Given the description of an element on the screen output the (x, y) to click on. 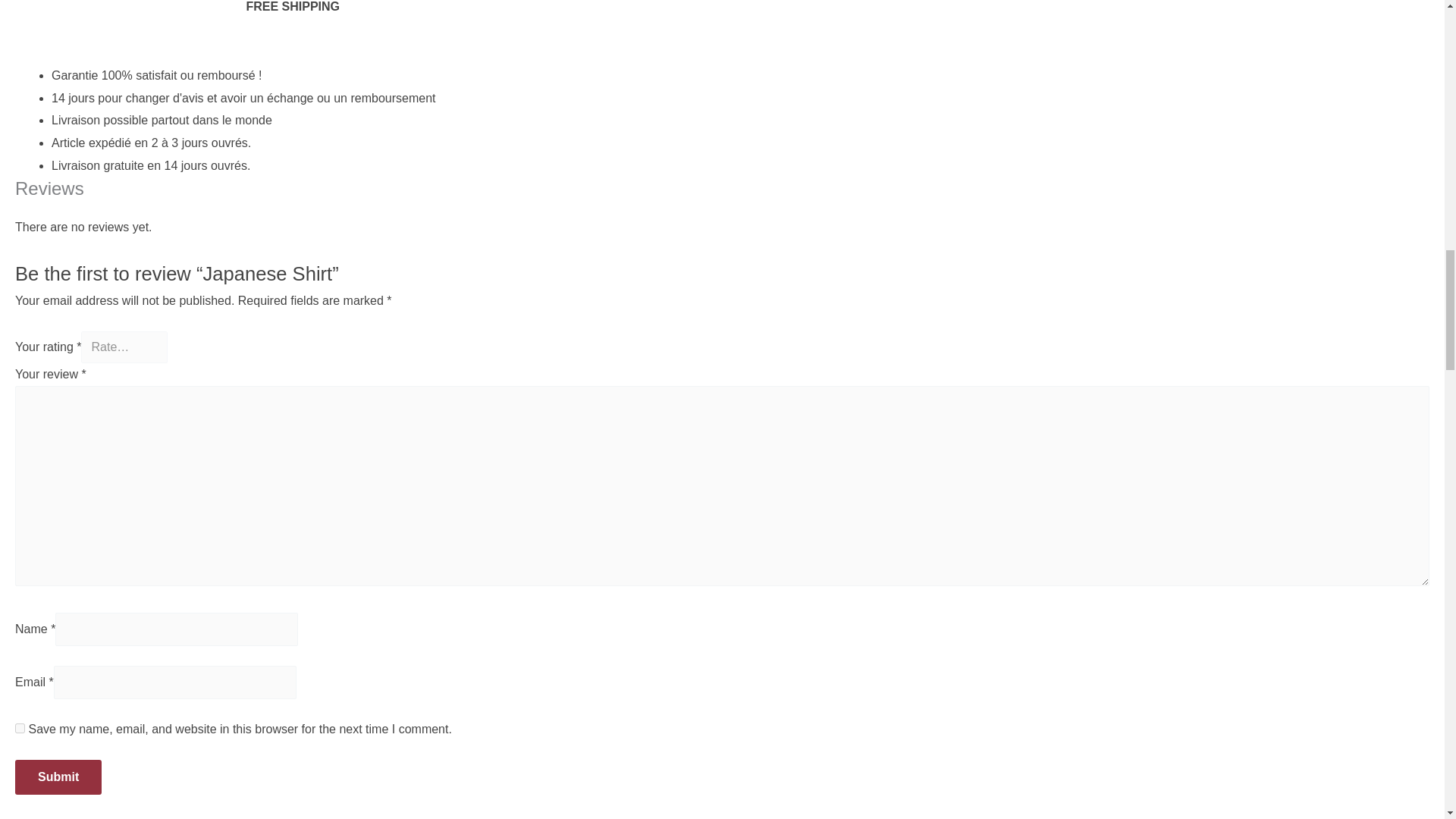
yes (19, 728)
Submit (57, 777)
